Given the description of an element on the screen output the (x, y) to click on. 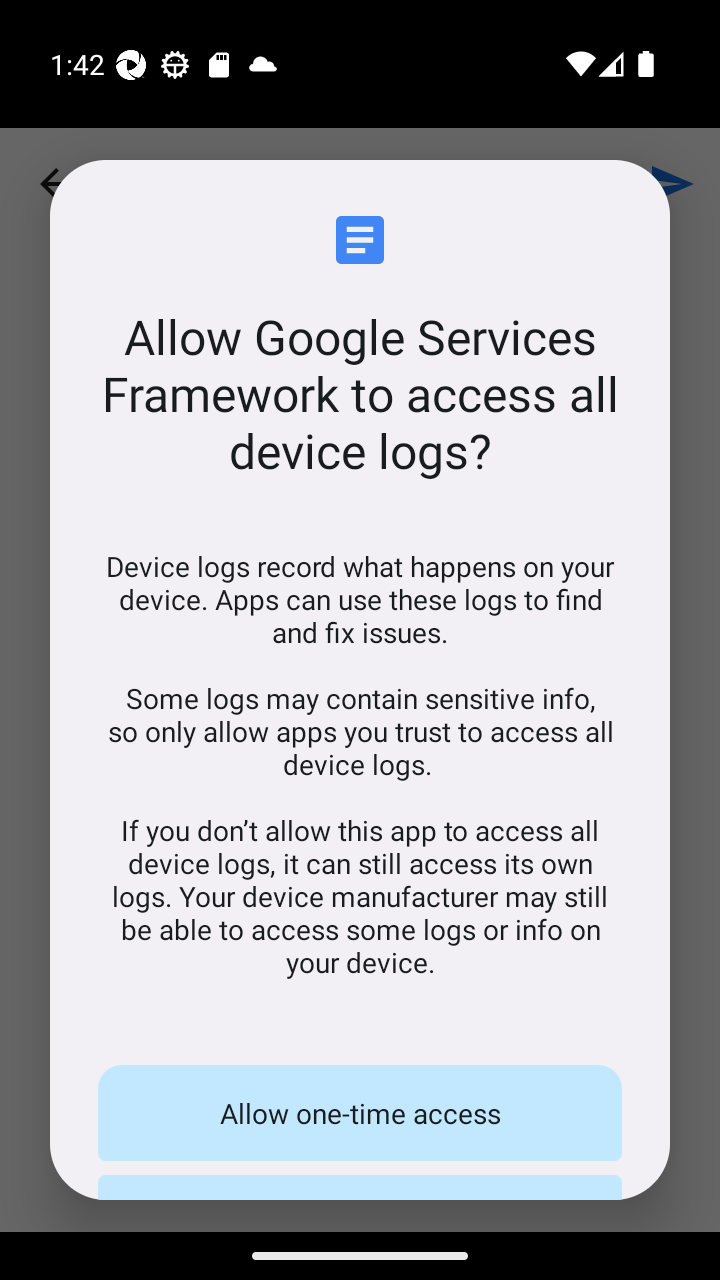
Allow one-time access (359, 1112)
